Given the description of an element on the screen output the (x, y) to click on. 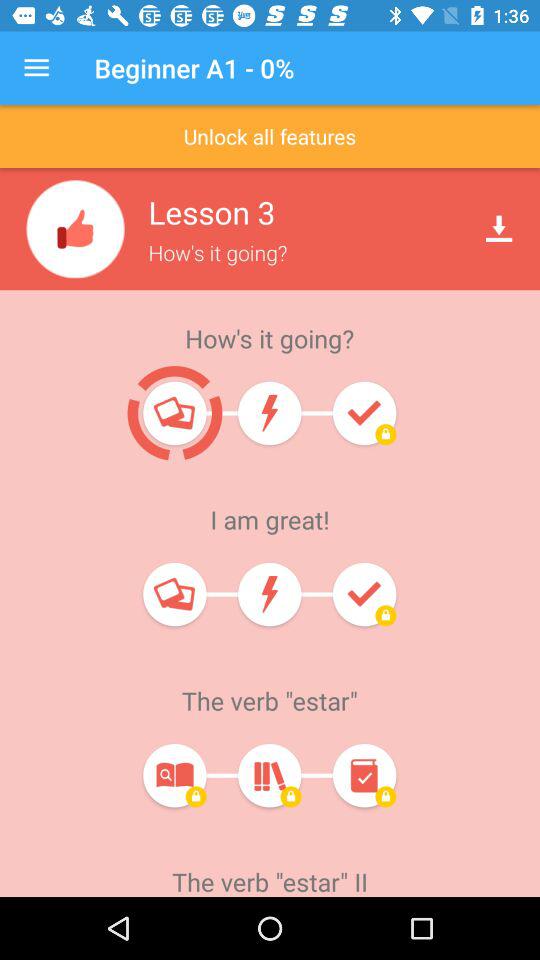
launch the app next to beginner a1 - 0% app (36, 68)
